Given the description of an element on the screen output the (x, y) to click on. 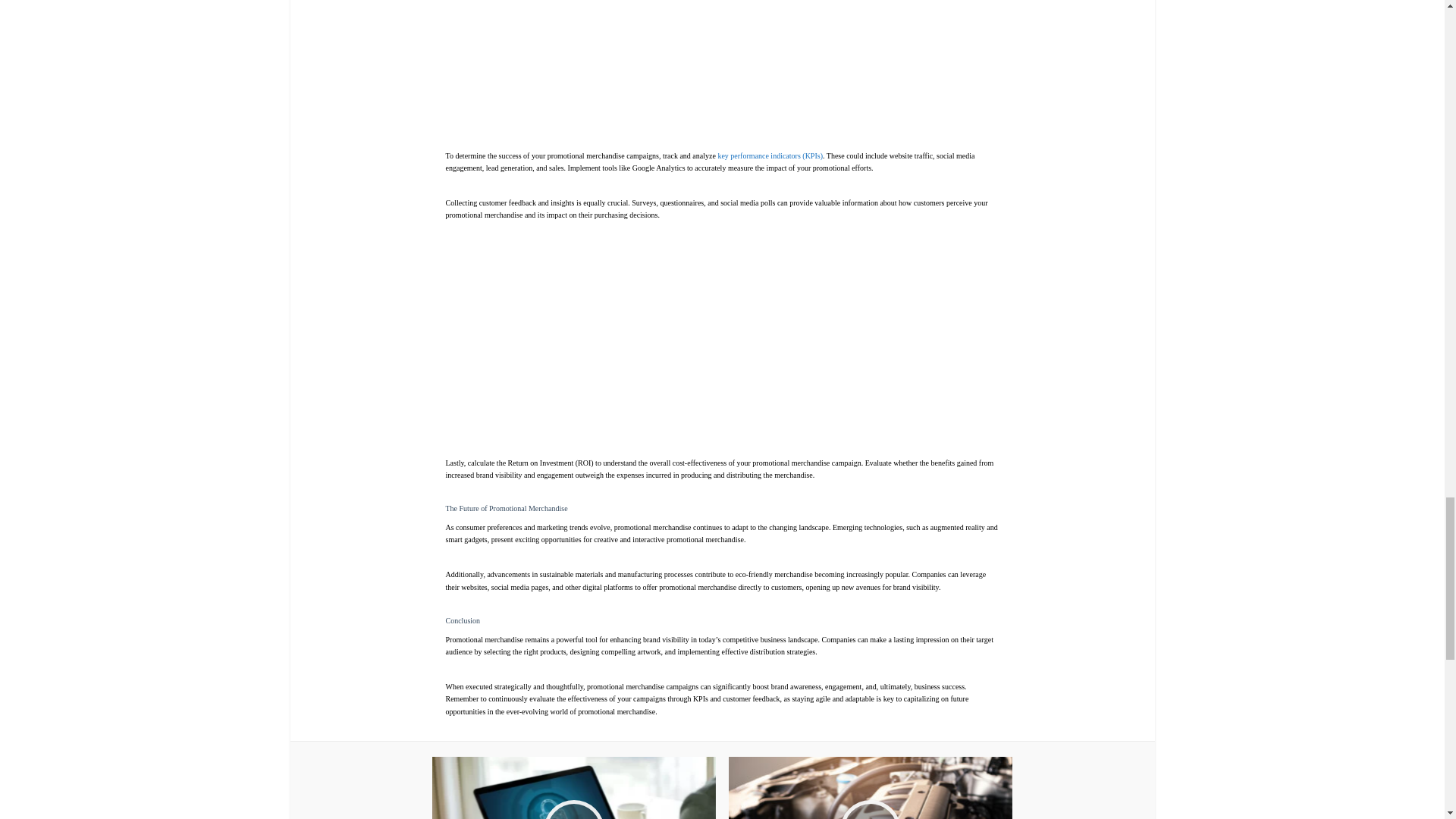
An Essential Guide To Aftertreatment System Maintenance (870, 787)
